Given the description of an element on the screen output the (x, y) to click on. 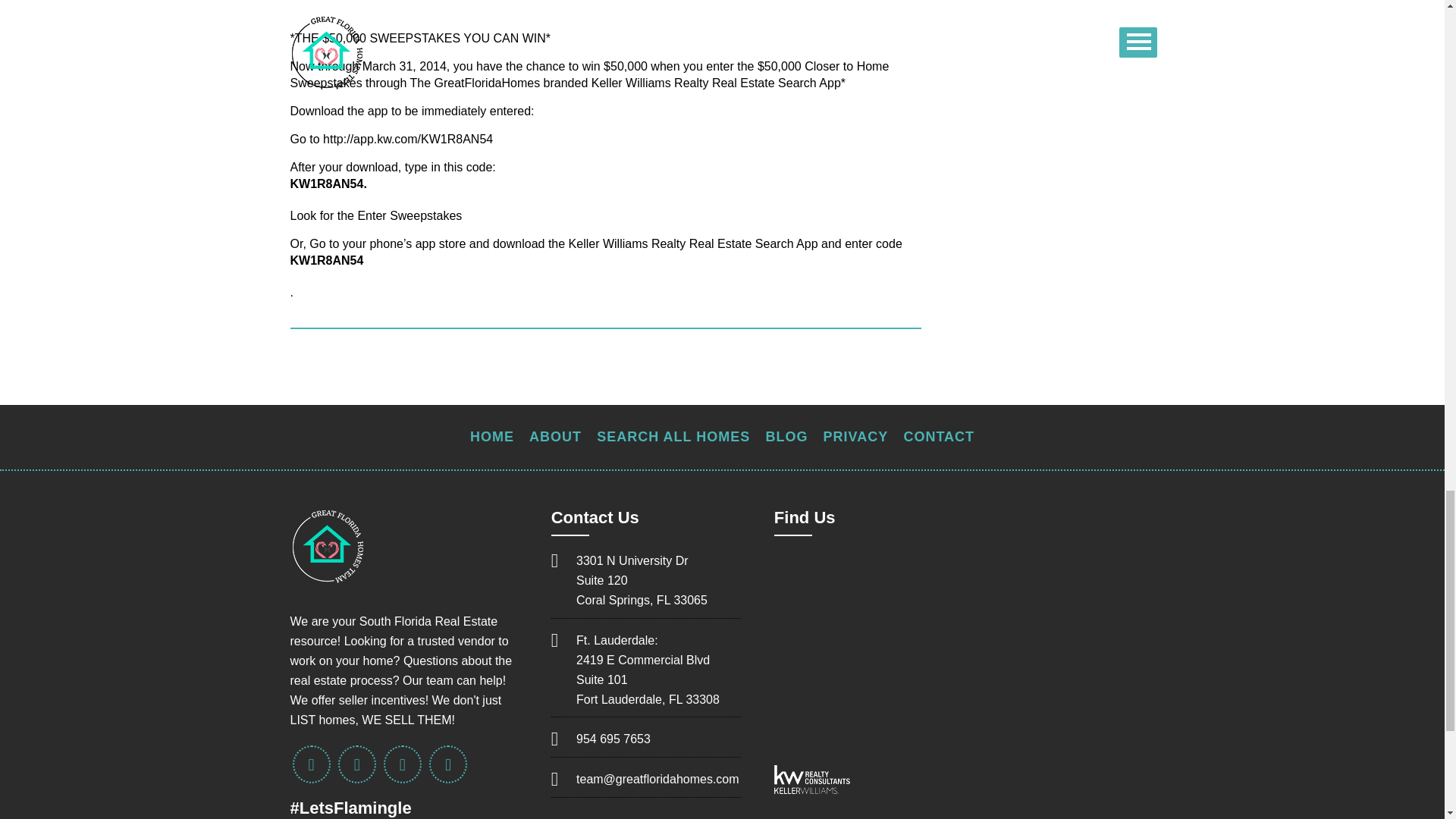
HOME (491, 436)
